Given the description of an element on the screen output the (x, y) to click on. 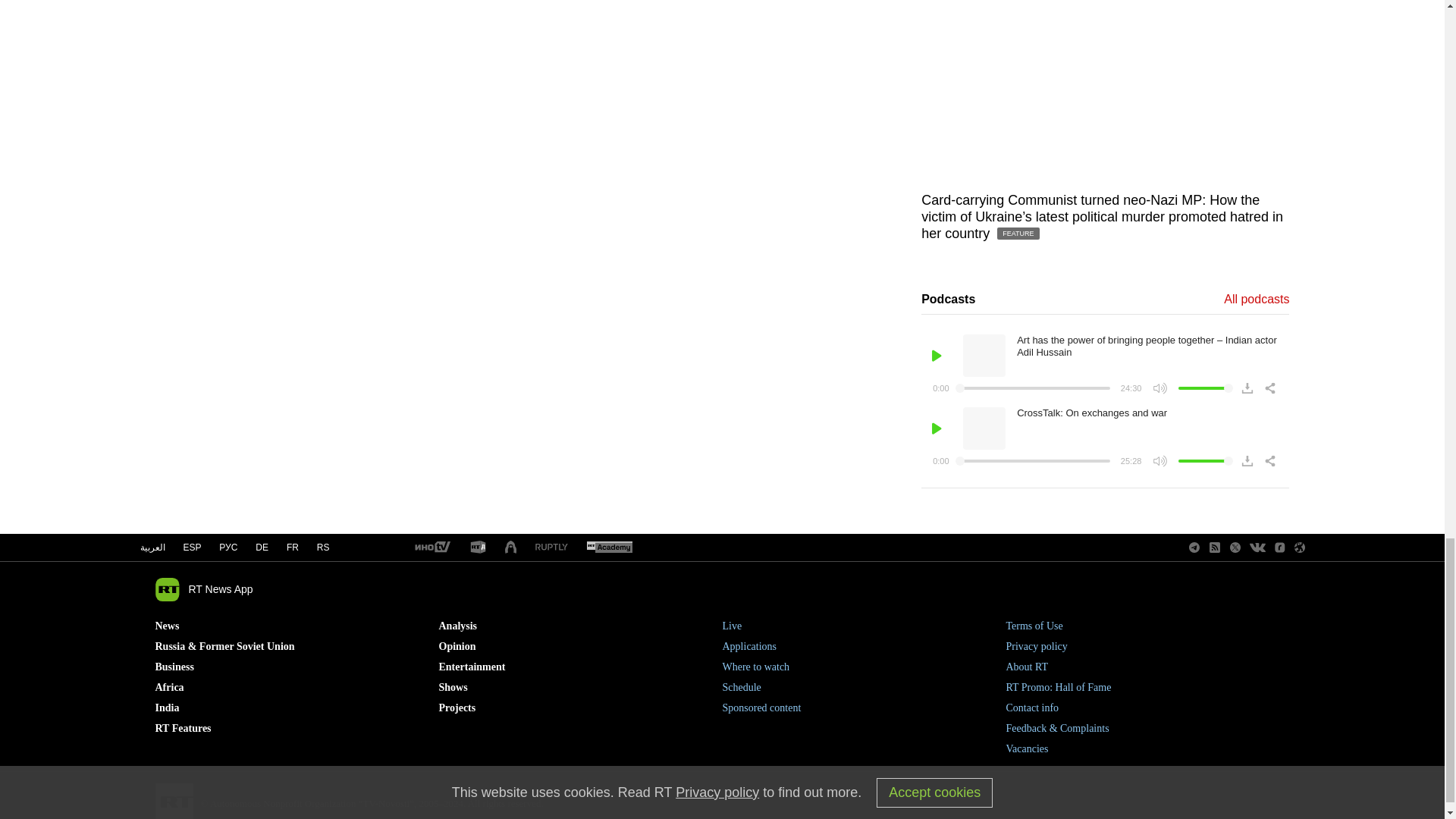
RT  (608, 547)
RT  (551, 547)
RT  (478, 547)
RT  (431, 547)
